Given the description of an element on the screen output the (x, y) to click on. 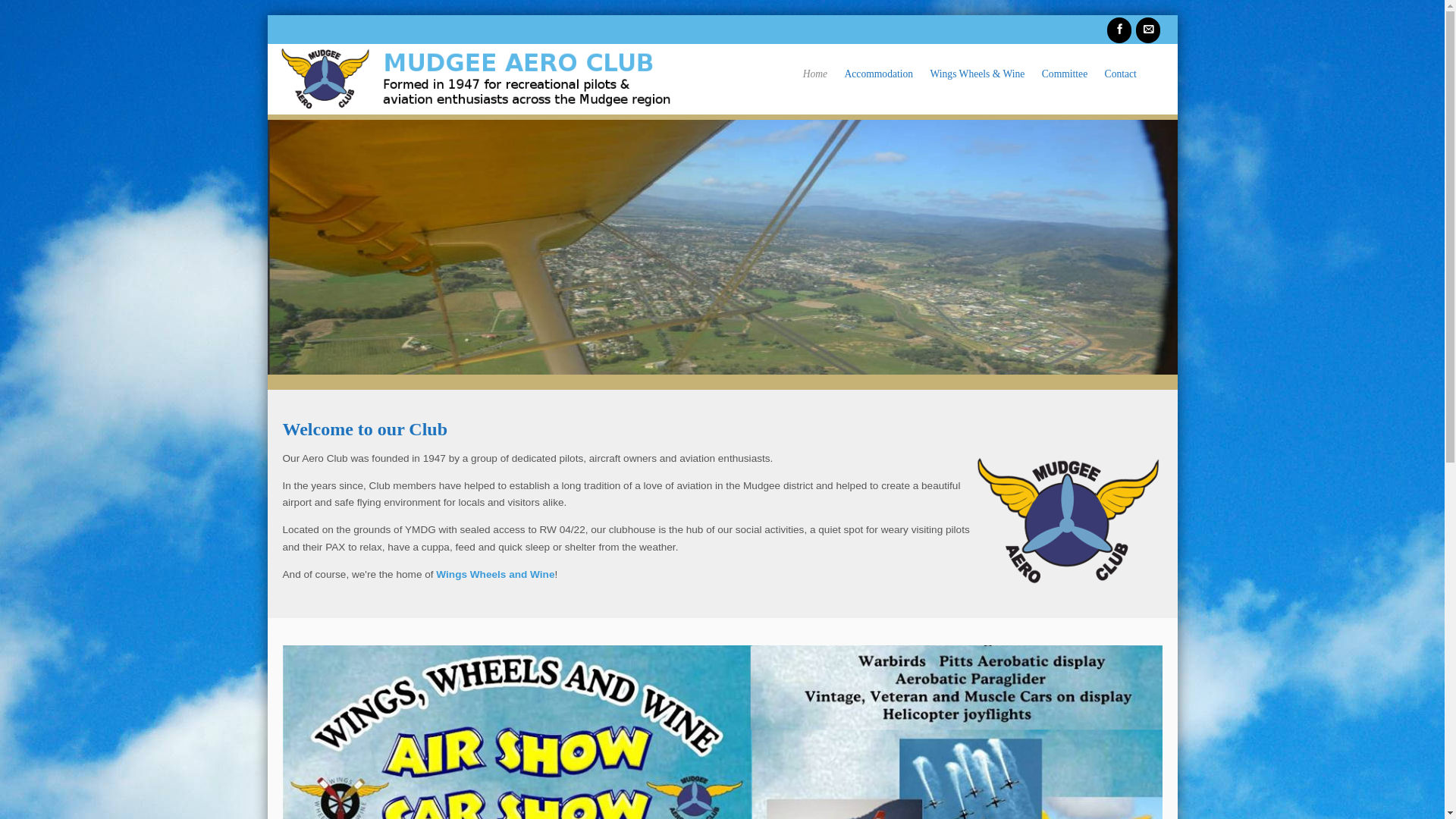
Wings Wheels & Wine Element type: text (976, 73)
Mudgee Aero Club Element type: hover (476, 78)
Email Element type: hover (1147, 30)
Committee Element type: text (1064, 73)
Home Element type: text (814, 73)
Wings Wheels and Wine Element type: text (495, 574)
Contact Element type: text (1120, 73)
Accommodation Element type: text (878, 73)
Facebook Element type: hover (1119, 30)
